Given the description of an element on the screen output the (x, y) to click on. 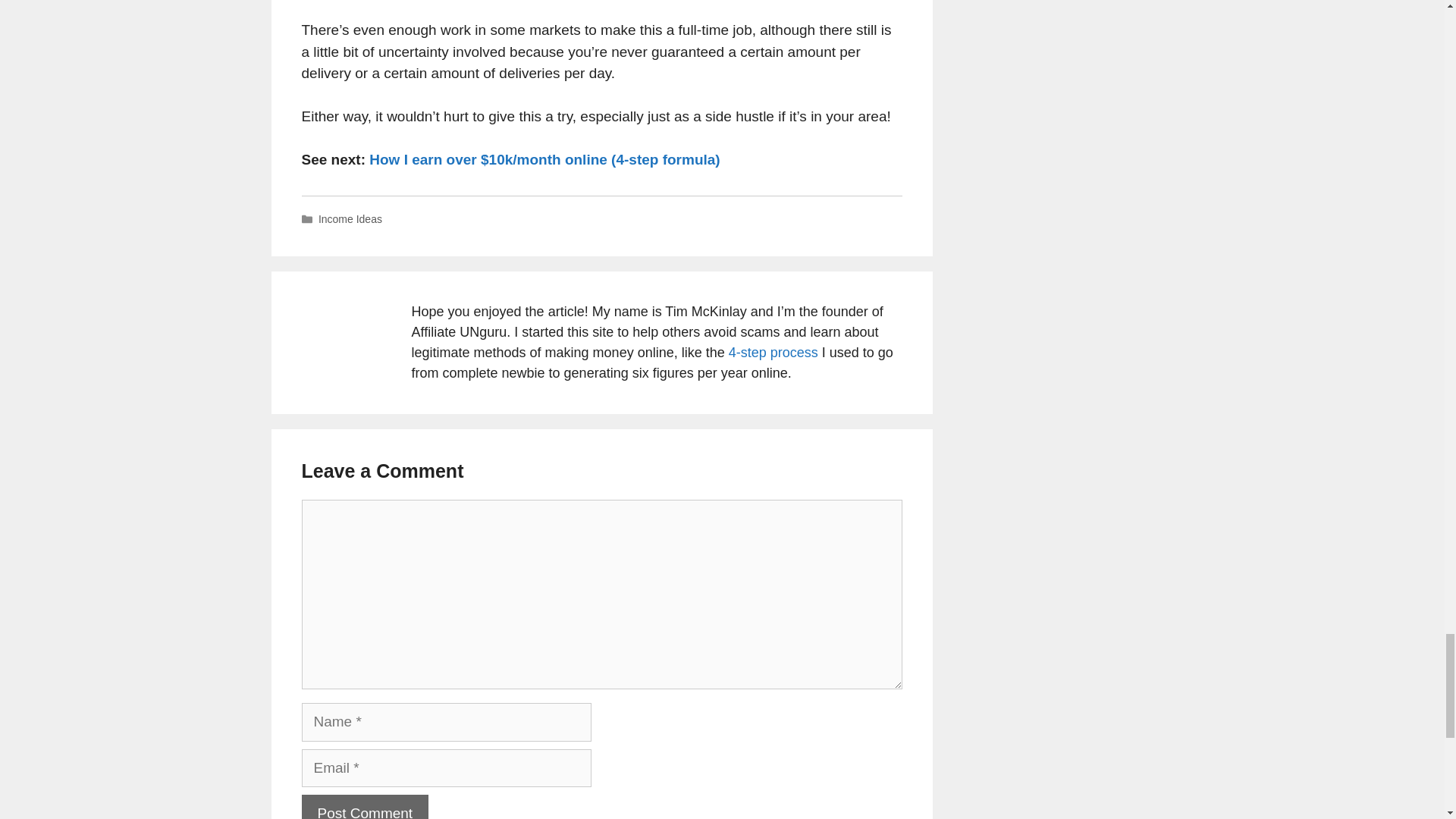
4-step process (773, 352)
Income Ideas (349, 218)
Post Comment (365, 806)
Post Comment (365, 806)
